Given the description of an element on the screen output the (x, y) to click on. 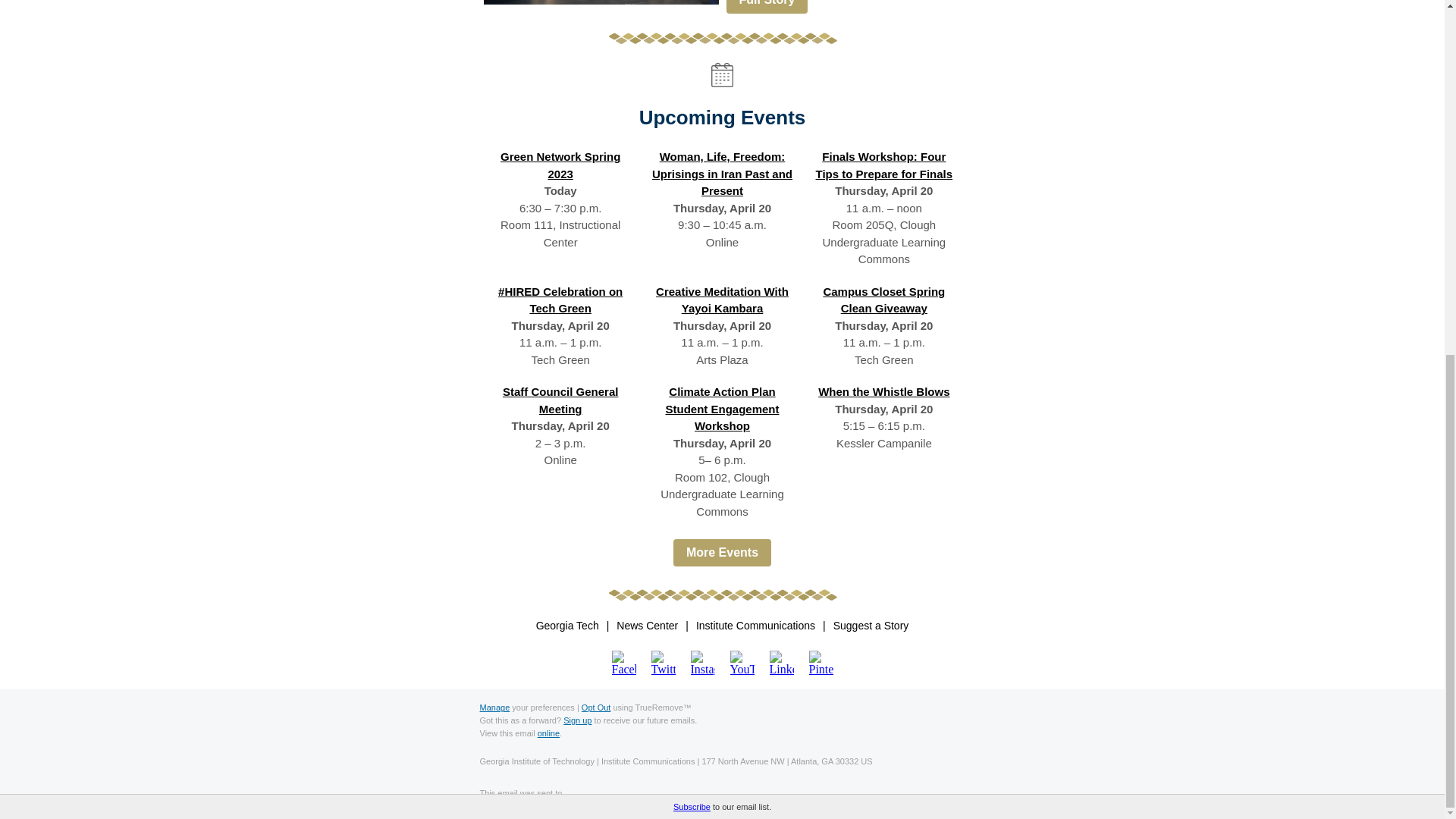
Suggest a Story (871, 625)
Subscribe (691, 184)
Twitter (662, 662)
News Center (646, 625)
Institute Communications (755, 625)
When the Whistle Blows (883, 391)
Instagram (702, 662)
Finals Workshop: Four Tips to Prepare for Finals (884, 164)
Full Story (767, 6)
Campus Closet Spring Clean Giveaway (883, 300)
